Given the description of an element on the screen output the (x, y) to click on. 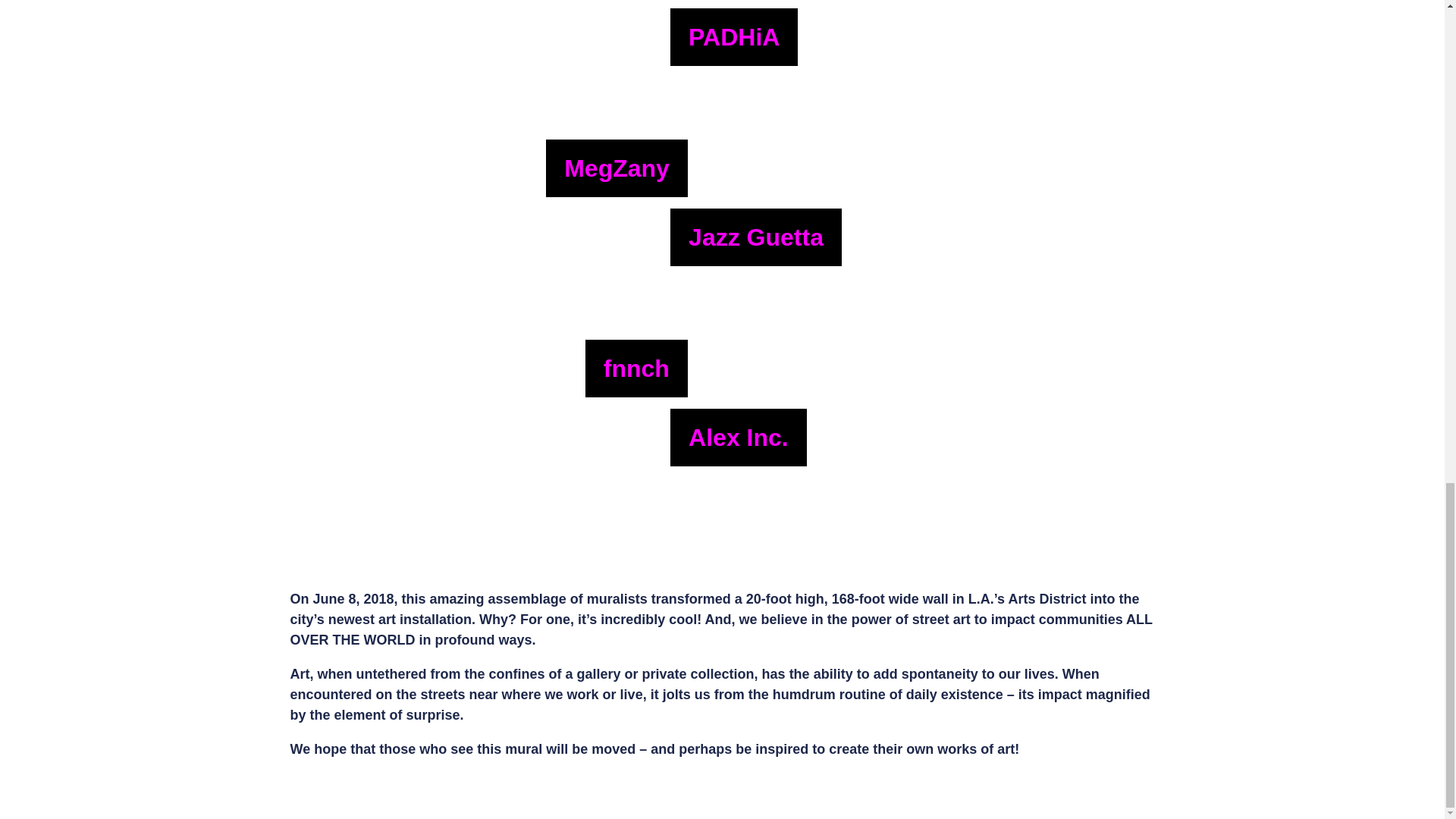
Jazz Guetta (835, 241)
PADHiA (835, 41)
MegZany (402, 155)
